Given the description of an element on the screen output the (x, y) to click on. 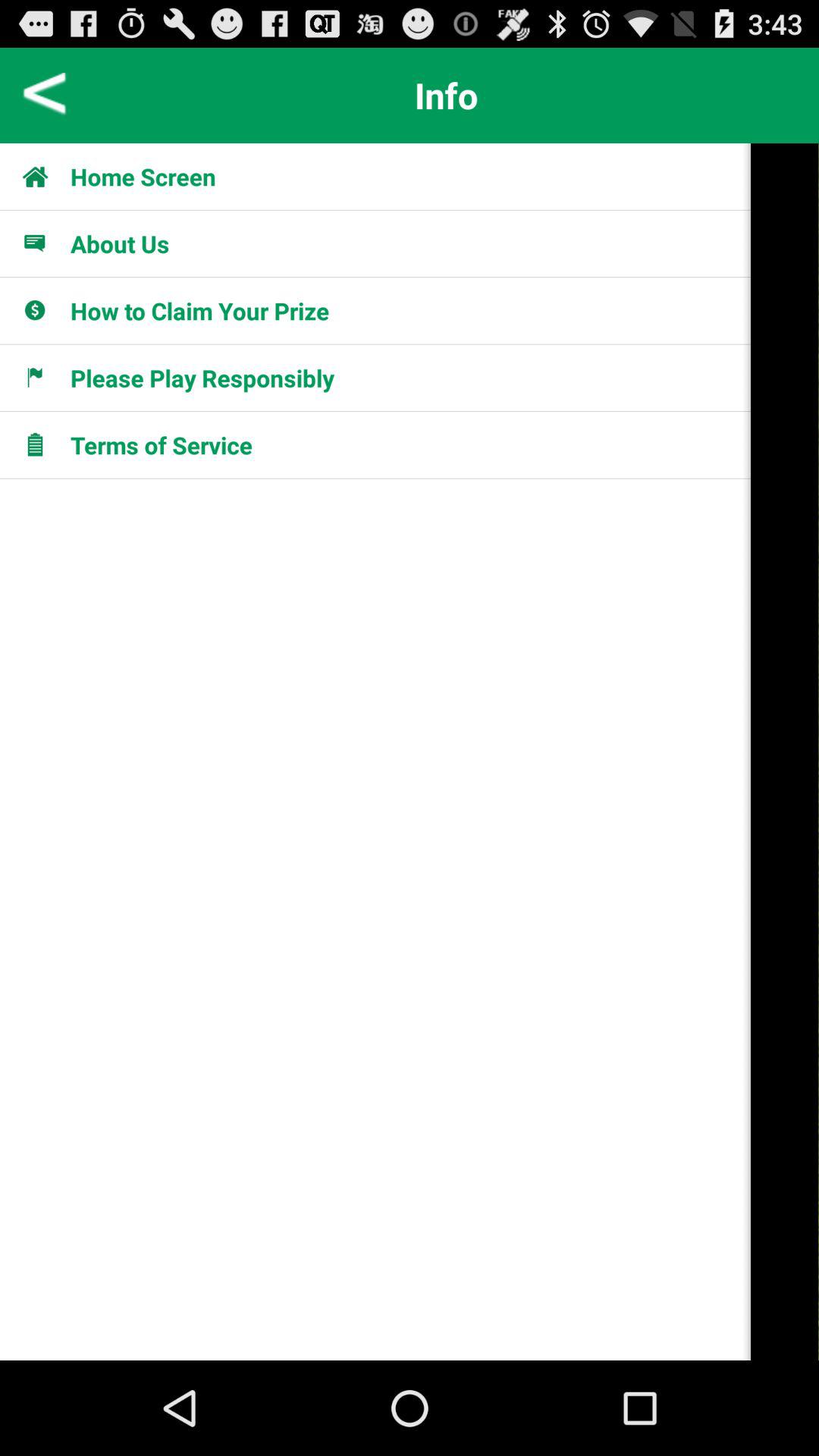
turn on icon above the terms of service app (202, 377)
